Given the description of an element on the screen output the (x, y) to click on. 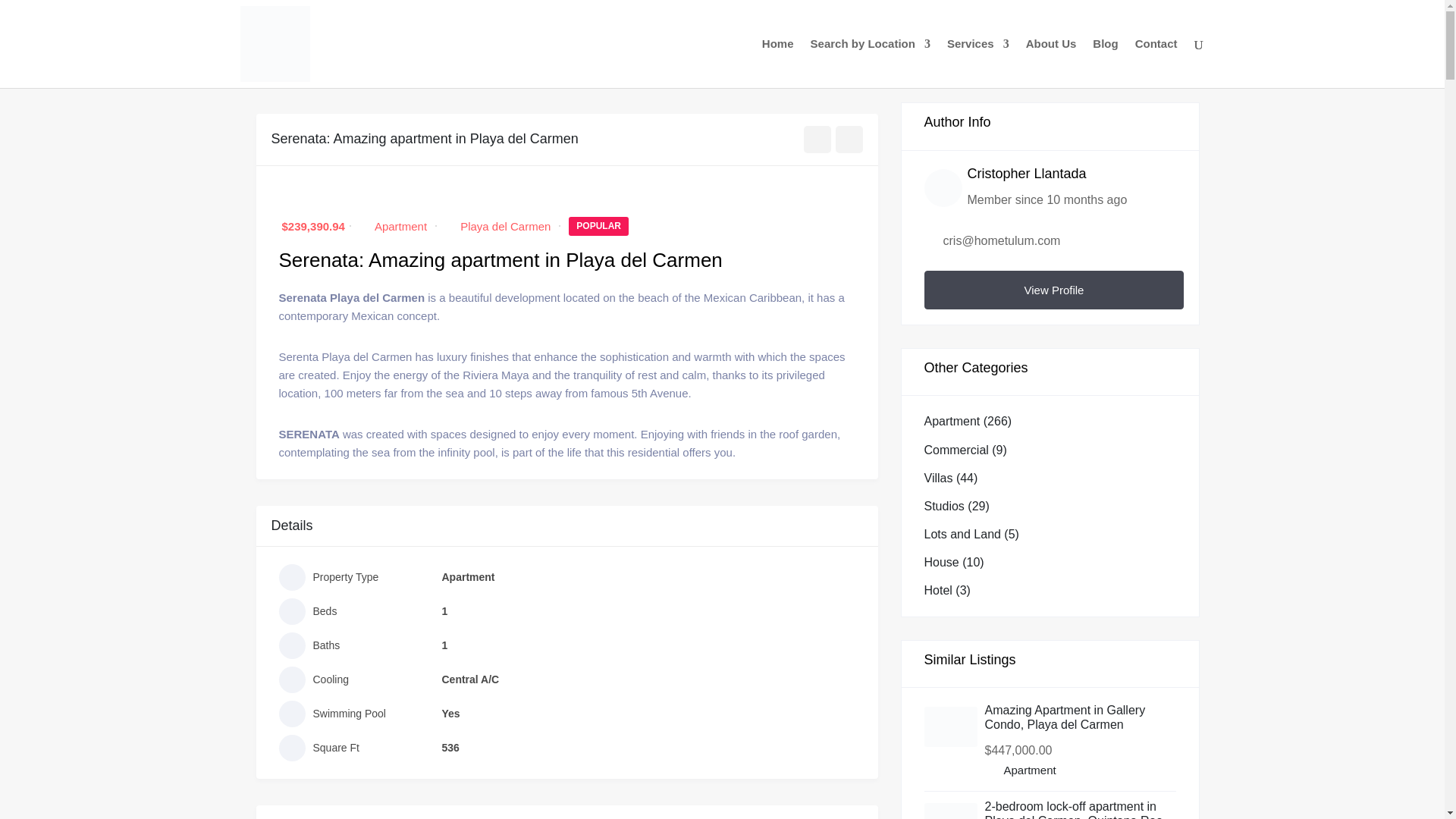
Search by Location (870, 62)
Playa del Carmen (505, 226)
About Us (1051, 62)
Apartment (400, 226)
Services (978, 62)
